Given the description of an element on the screen output the (x, y) to click on. 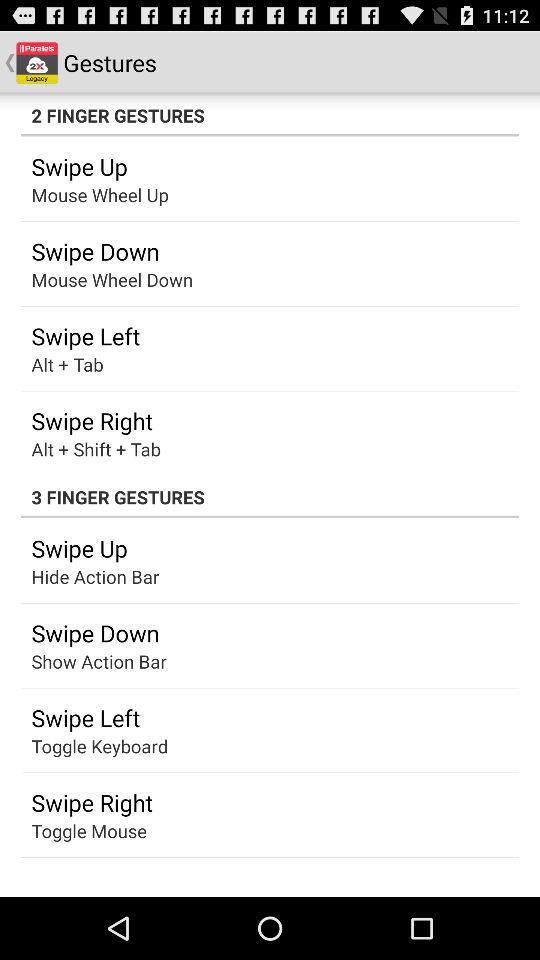
scroll to toggle keyboard app (99, 745)
